Given the description of an element on the screen output the (x, y) to click on. 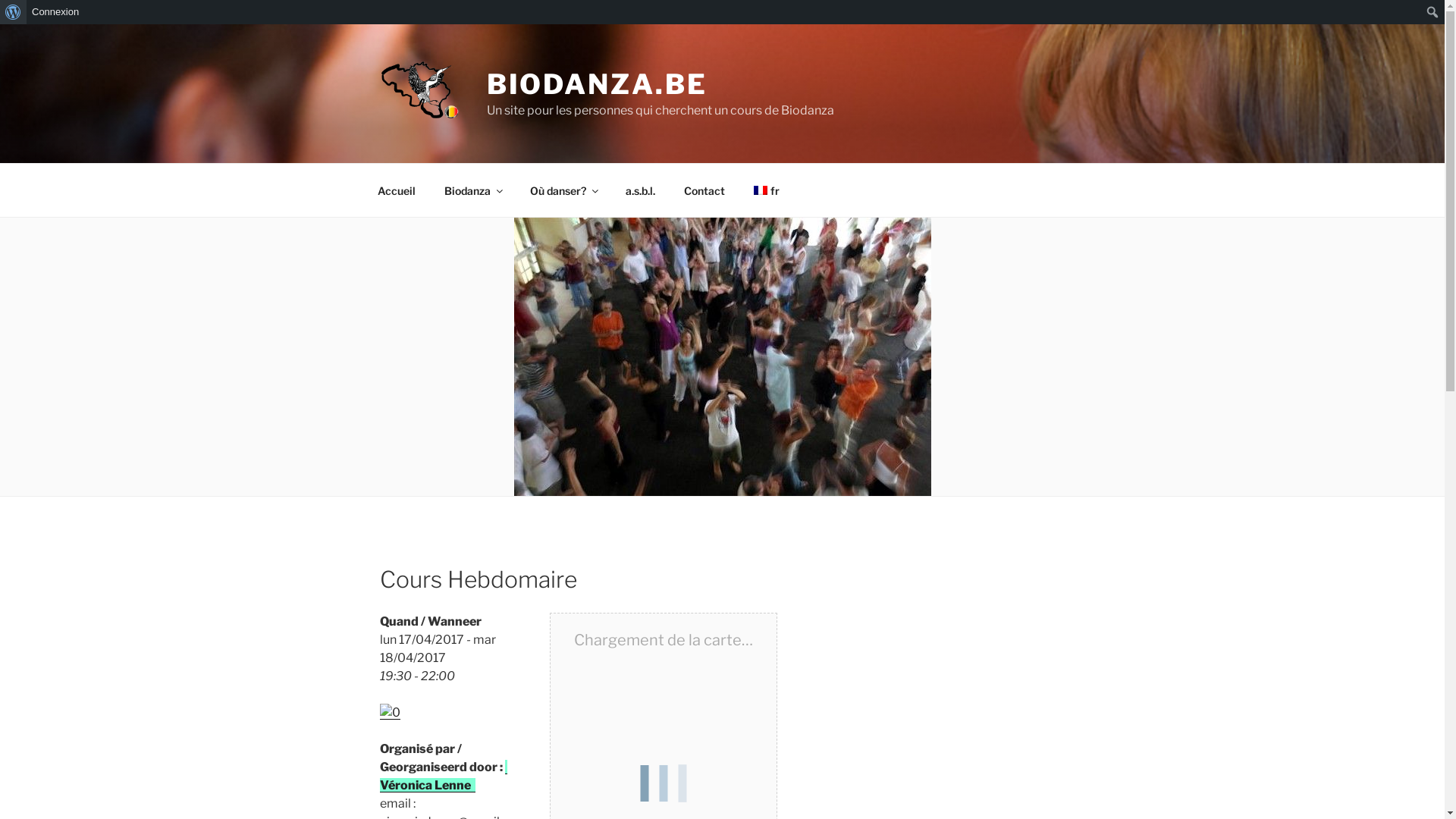
Biodanza Element type: text (472, 189)
a.s.b.l. Element type: text (640, 189)
Connexion Element type: text (55, 12)
Rechercher Element type: text (25, 12)
fr Element type: text (766, 189)
Contact Element type: text (703, 189)
Accueil Element type: text (396, 189)
BIODANZA.BE Element type: text (596, 83)
